Given the description of an element on the screen output the (x, y) to click on. 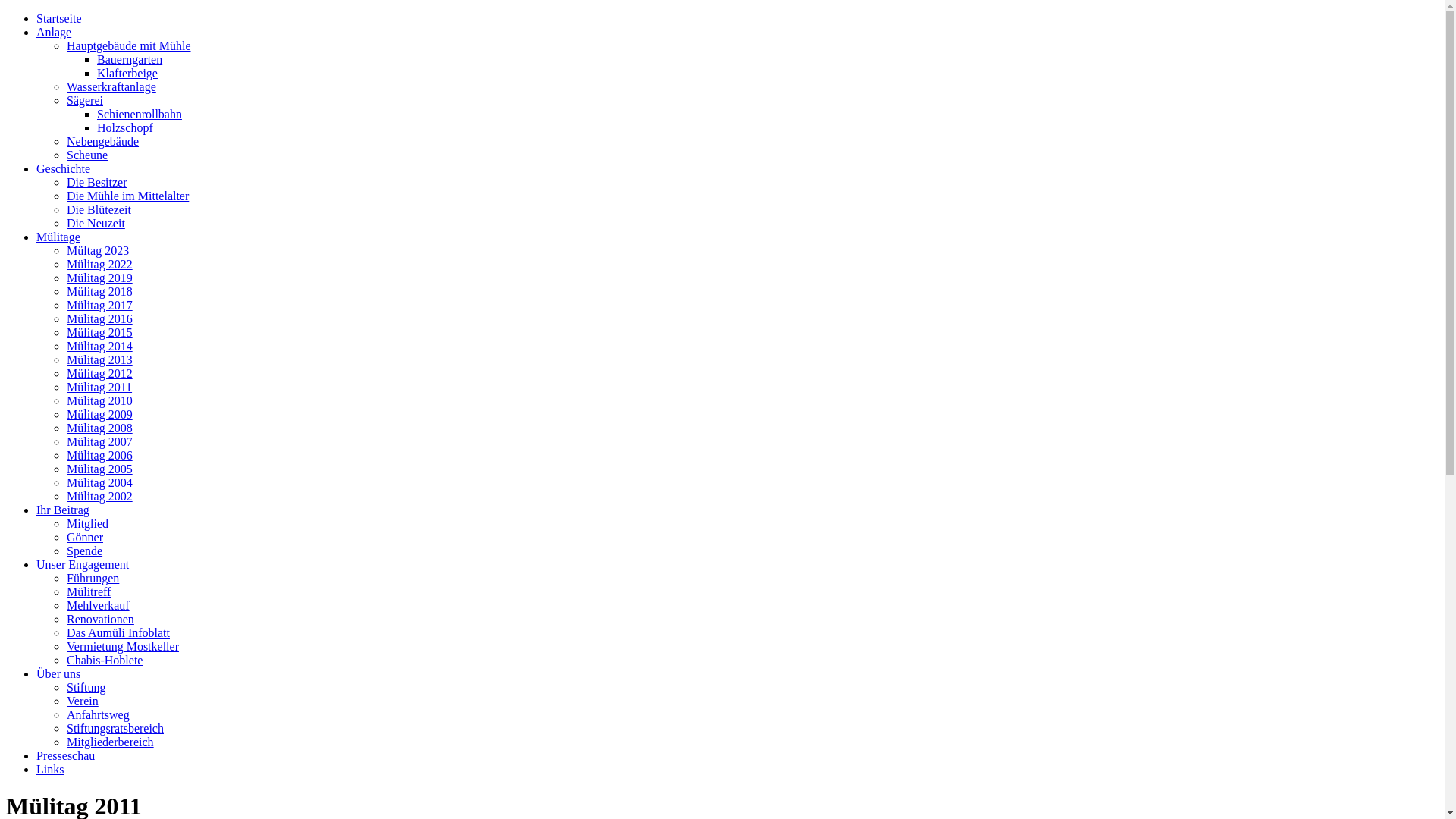
Startseite Element type: text (58, 18)
Chabis-Hoblete Element type: text (104, 659)
Stiftung Element type: text (86, 686)
Links Element type: text (49, 768)
Die Besitzer Element type: text (96, 181)
Bauerngarten Element type: text (129, 59)
Unser Engagement Element type: text (82, 564)
Klafterbeige Element type: text (127, 72)
Ihr Beitrag Element type: text (62, 509)
Die Neuzeit Element type: text (95, 222)
Wasserkraftanlage Element type: text (111, 86)
Geschichte Element type: text (63, 168)
Holzschopf Element type: text (125, 127)
Presseschau Element type: text (65, 755)
Schienenrollbahn Element type: text (139, 113)
Verein Element type: text (82, 700)
Vermietung Mostkeller Element type: text (122, 646)
Renovationen Element type: text (100, 618)
Mehlverkauf Element type: text (97, 605)
Anfahrtsweg Element type: text (97, 714)
Scheune Element type: text (86, 154)
Mitgliederbereich Element type: text (109, 741)
Mitglied Element type: text (87, 523)
Stiftungsratsbereich Element type: text (114, 727)
Anlage Element type: text (53, 31)
Spende Element type: text (84, 550)
